Given the description of an element on the screen output the (x, y) to click on. 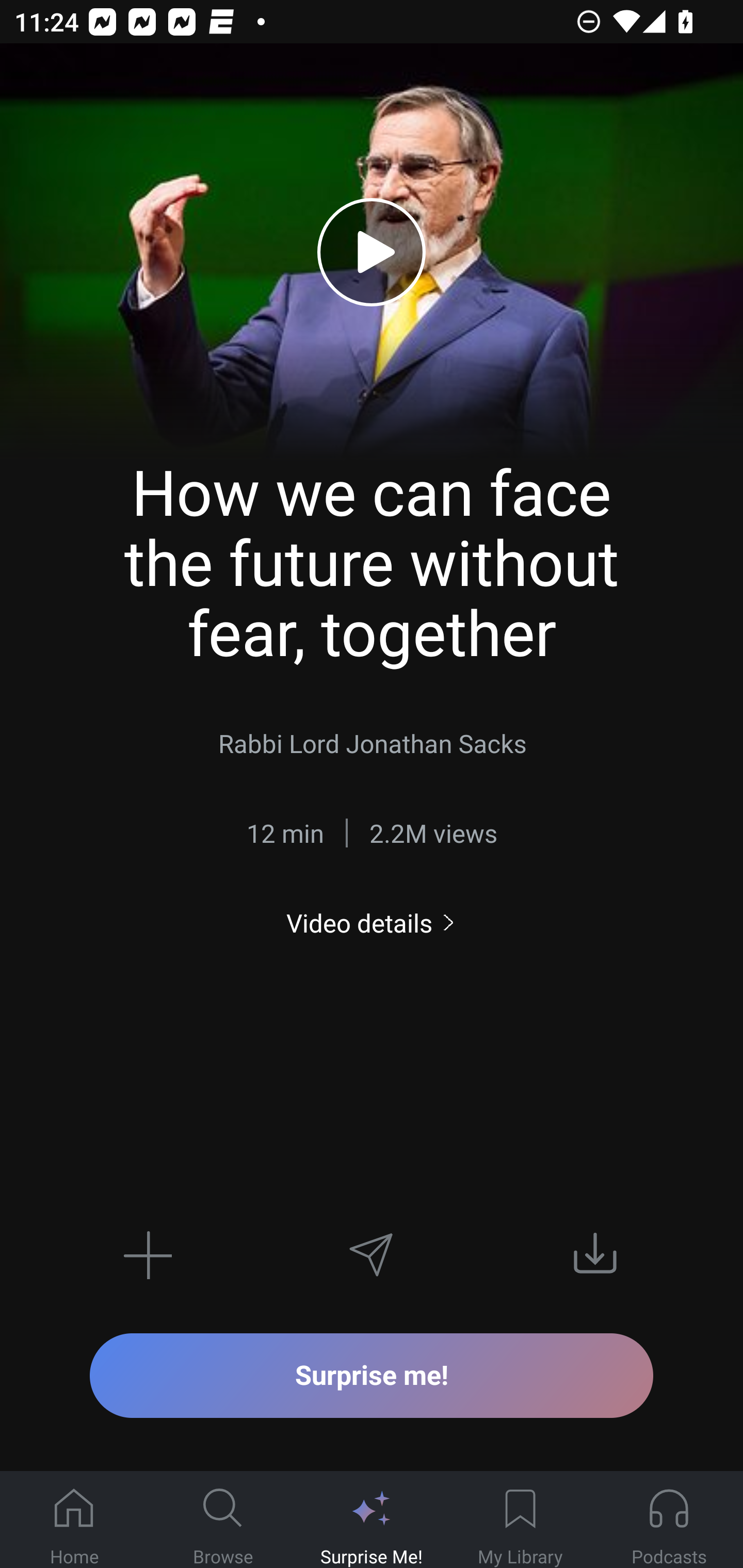
Video details (371, 922)
Surprise me! (371, 1374)
Home (74, 1520)
Browse (222, 1520)
Surprise Me! (371, 1520)
My Library (519, 1520)
Podcasts (668, 1520)
